Given the description of an element on the screen output the (x, y) to click on. 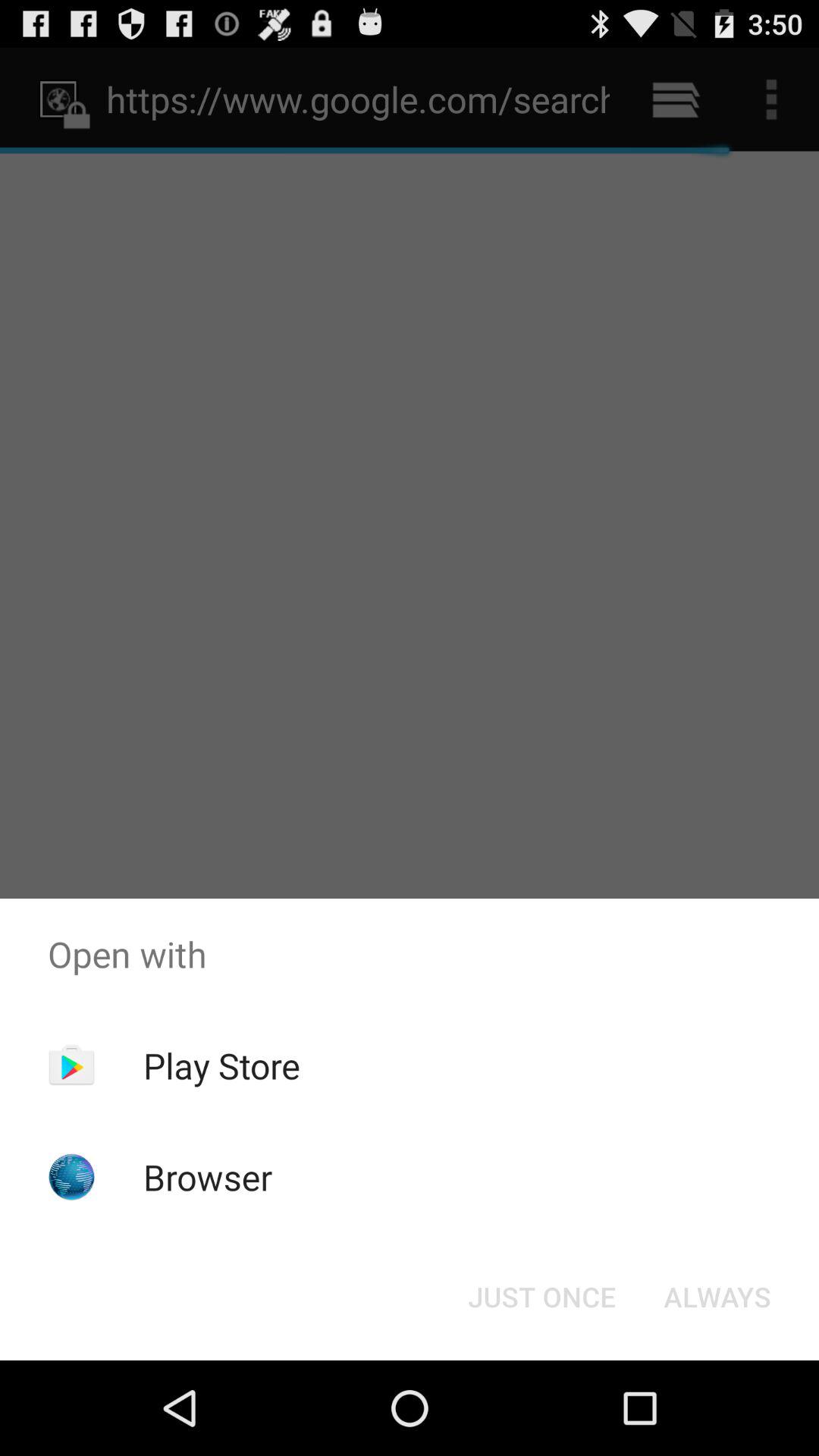
flip to play store item (221, 1065)
